Given the description of an element on the screen output the (x, y) to click on. 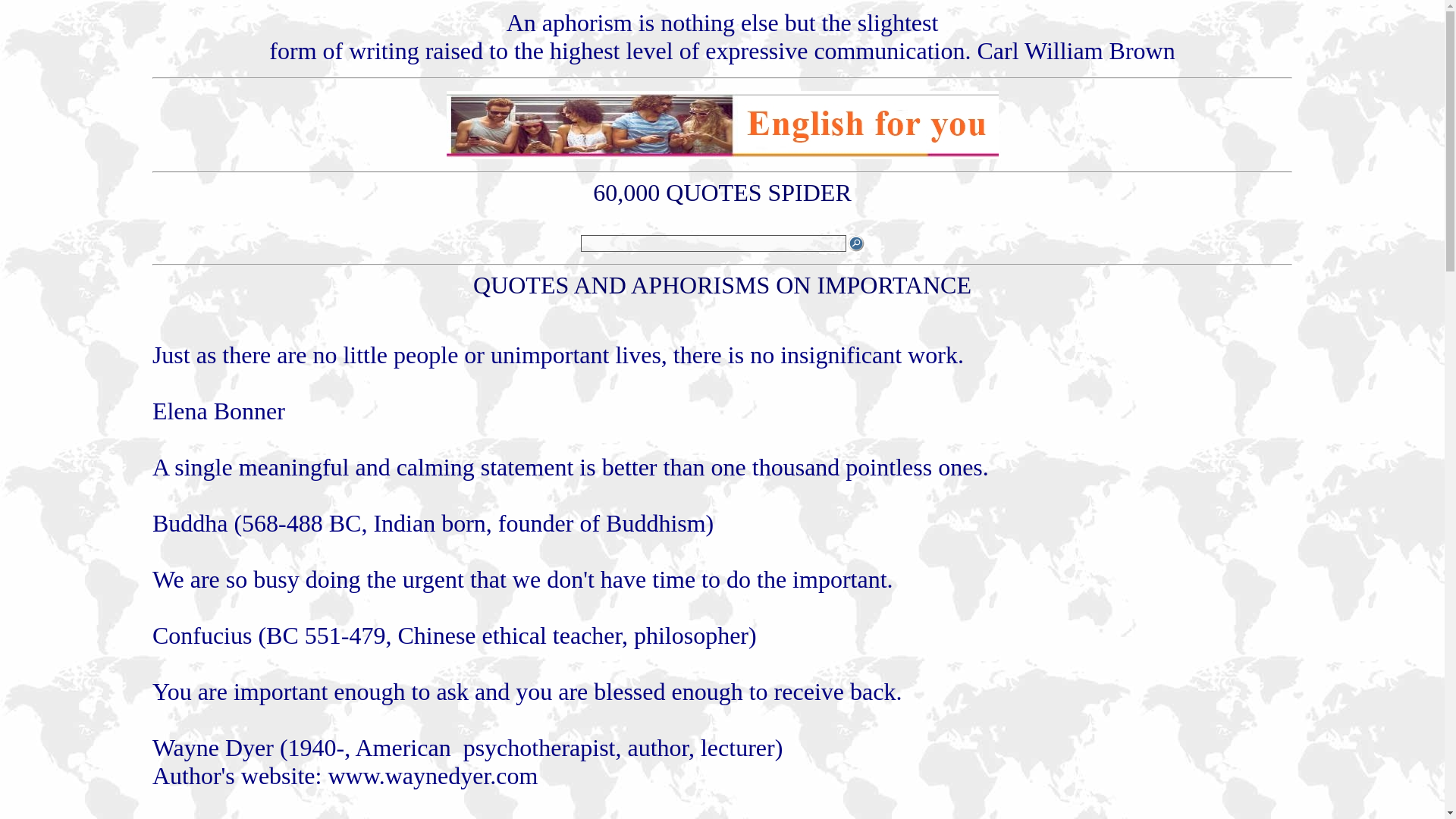
English culture blog and quotes (721, 154)
